Given the description of an element on the screen output the (x, y) to click on. 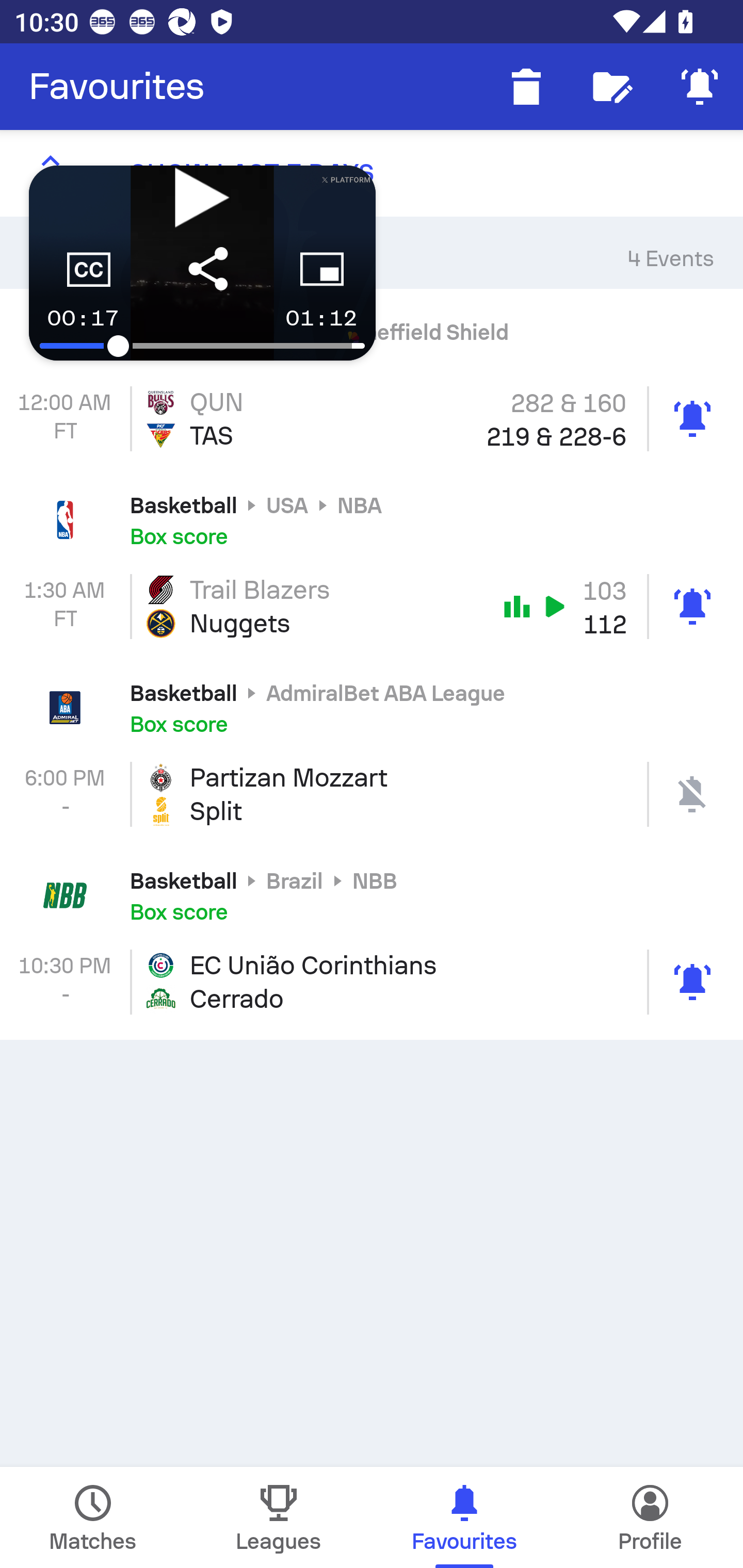
Favourites (116, 86)
Delete finished (525, 86)
Follow editor (612, 86)
Mute Notifications (699, 86)
12:00 AM FT QUN 219 & 228-6 282 & 160 TAS (371, 418)
Basketball USA NBA Box score (371, 519)
1:30 AM FT Trail Blazers Nuggets 103 112 (371, 605)
Basketball AdmiralBet ABA League Box score (371, 707)
6:00 PM - Partizan Mozzart Split (371, 794)
Basketball Brazil NBB Box score (371, 895)
10:30 PM - EC União Corinthians Cerrado (371, 982)
Matches (92, 1517)
Leagues (278, 1517)
Profile (650, 1517)
